Given the description of an element on the screen output the (x, y) to click on. 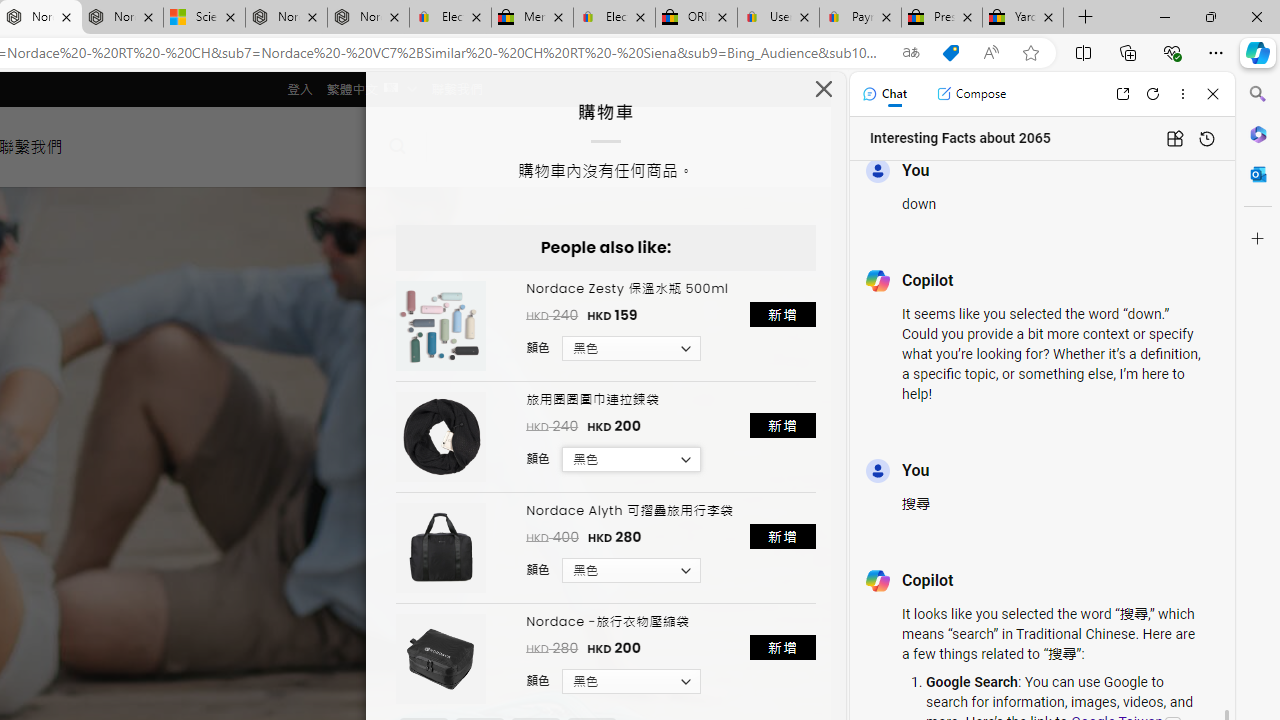
Press Room - eBay Inc. (941, 17)
Open link in new tab (1122, 93)
Class: feather feather-x (824, 88)
